Given the description of an element on the screen output the (x, y) to click on. 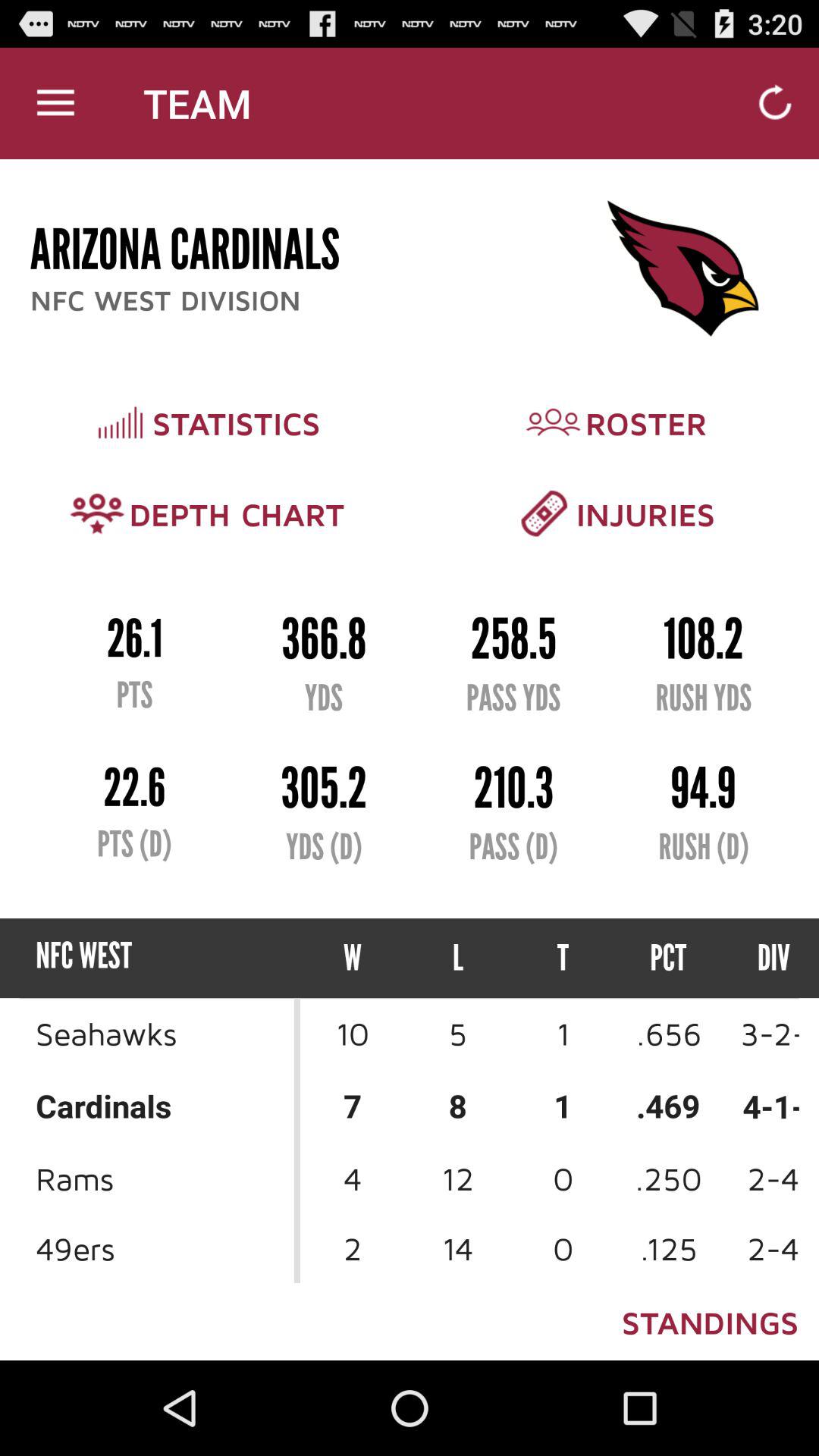
select the icon next to the w (457, 958)
